Given the description of an element on the screen output the (x, y) to click on. 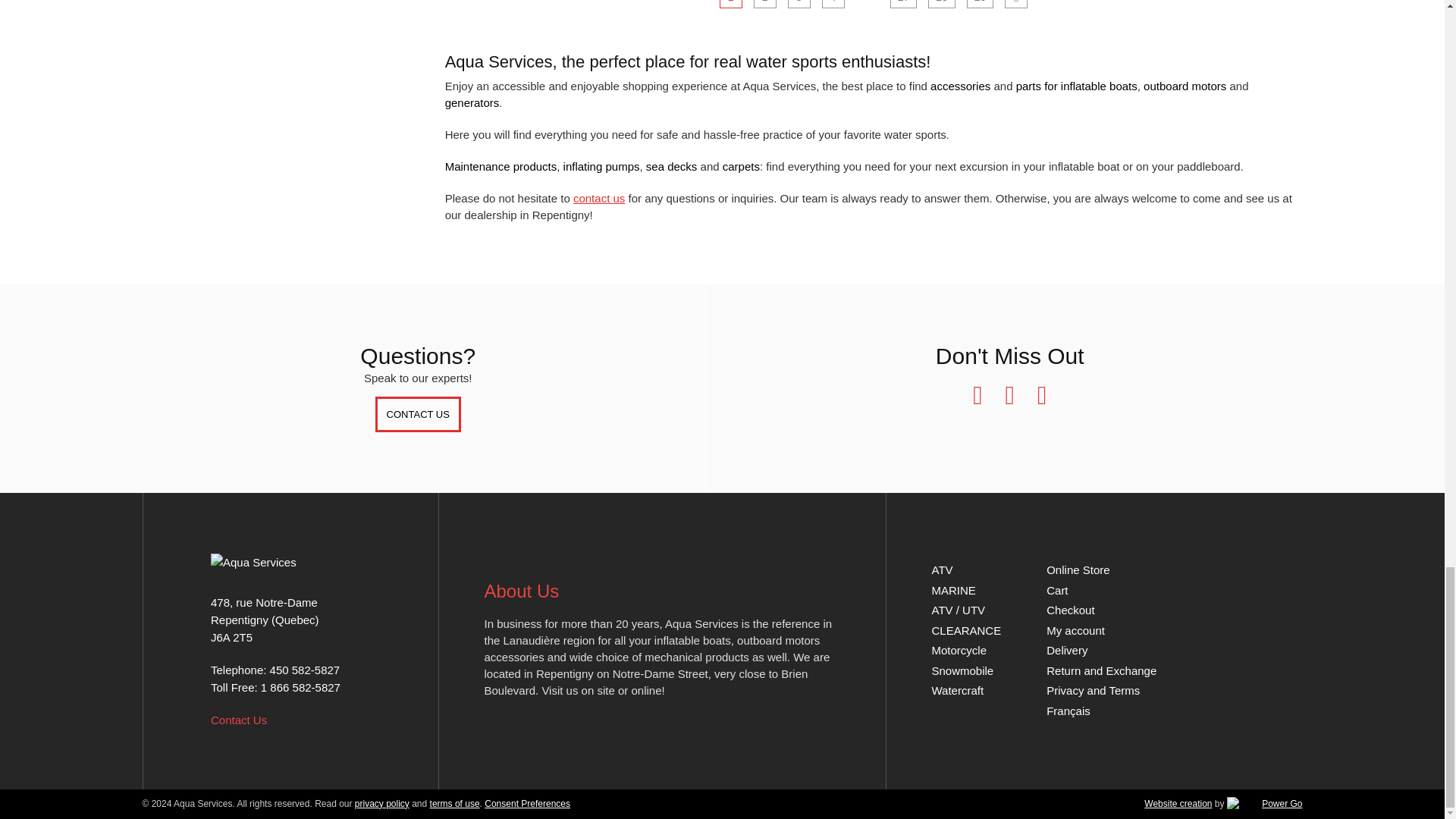
Aqua Services (290, 561)
